Given the description of an element on the screen output the (x, y) to click on. 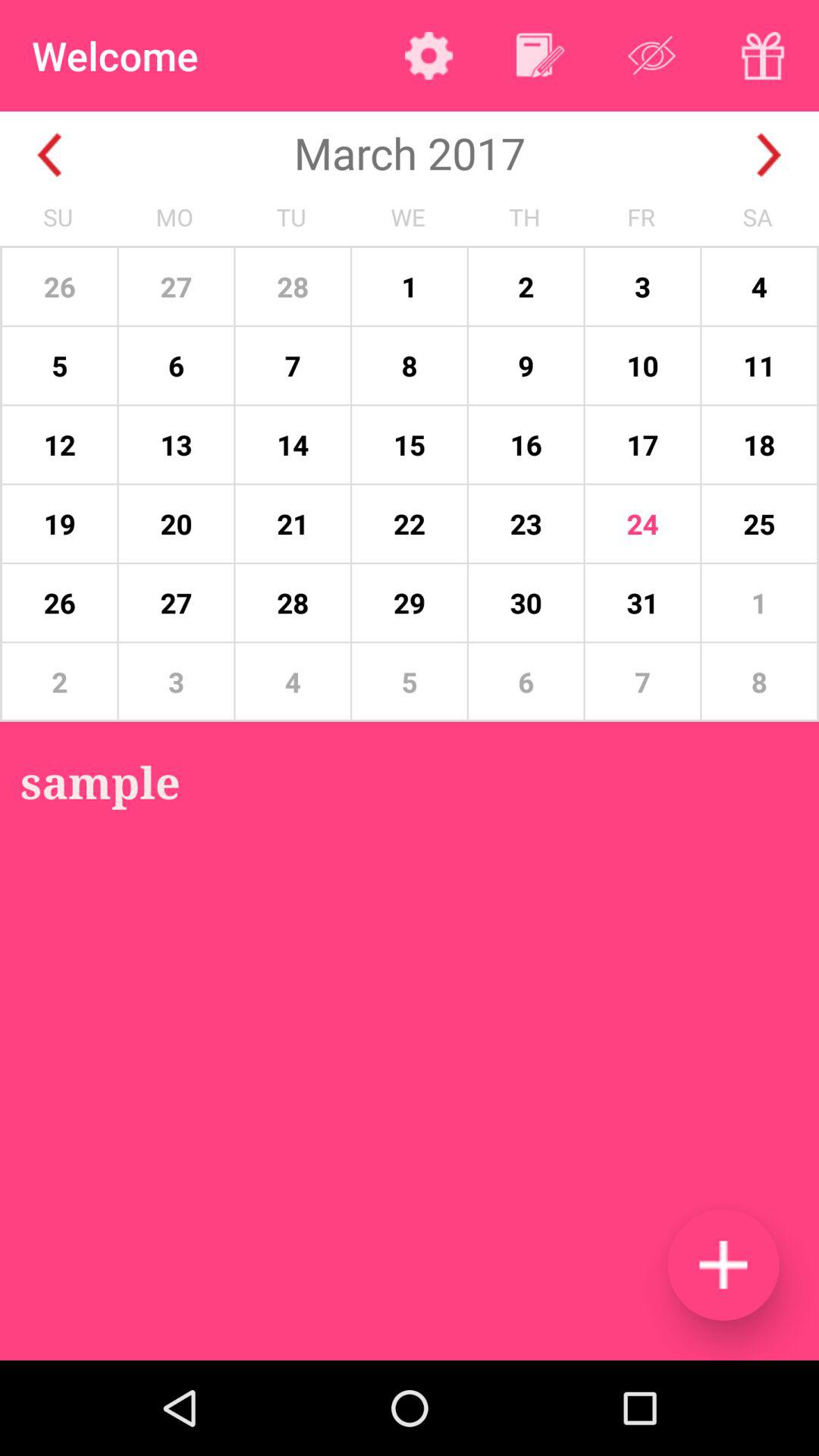
go back month (49, 155)
